Given the description of an element on the screen output the (x, y) to click on. 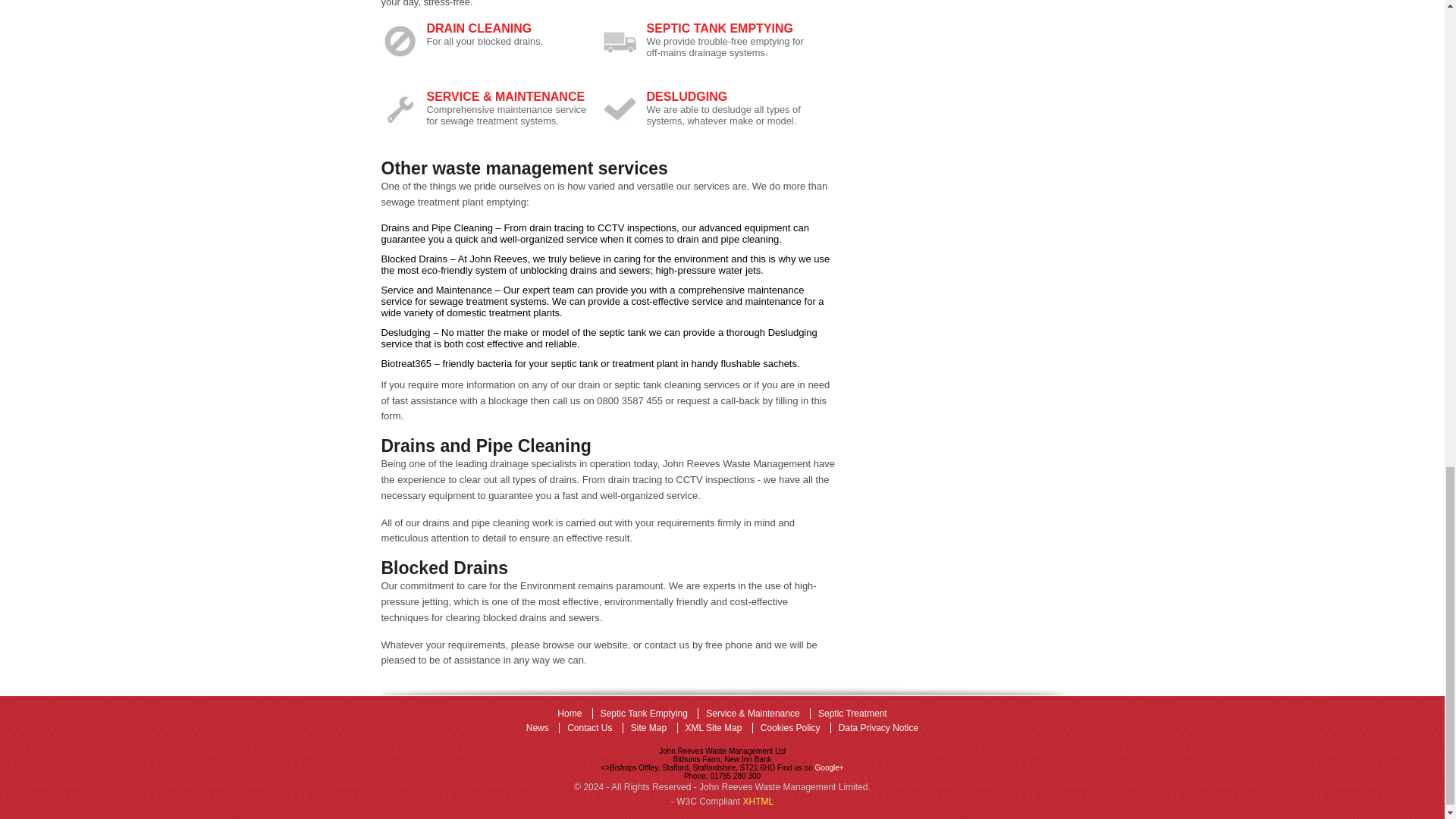
Septic Treatment (852, 713)
XML Site Map (713, 727)
Contact Us (590, 727)
Home (568, 713)
News (536, 727)
Site Map (648, 727)
Septic Tank Emptying (643, 713)
